Given the description of an element on the screen output the (x, y) to click on. 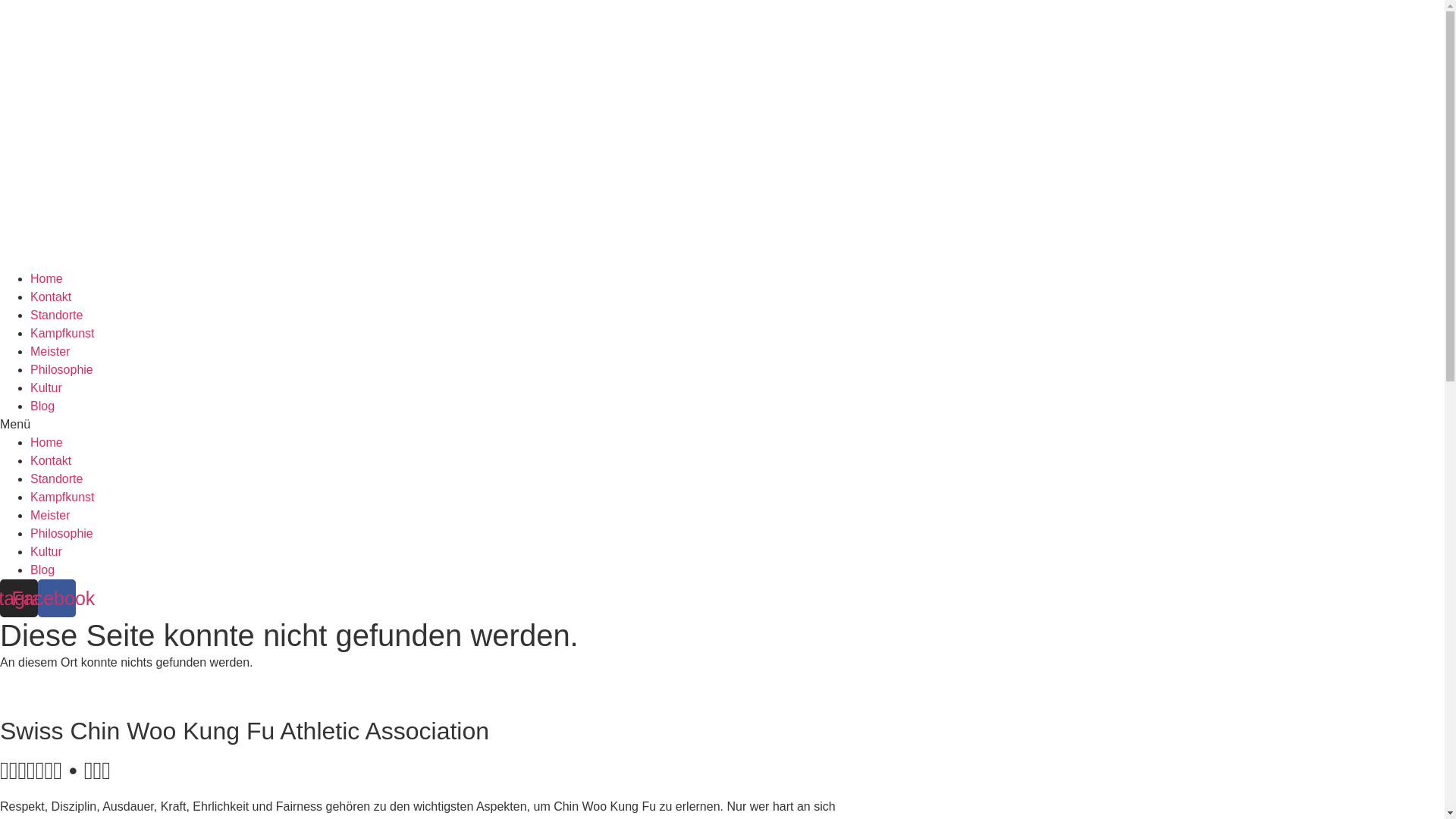
Standorte Element type: text (56, 478)
Blog Element type: text (42, 569)
Facebook Element type: text (56, 598)
Meister Element type: text (49, 514)
Kultur Element type: text (46, 387)
Home Element type: text (46, 278)
Home Element type: text (46, 442)
Philosophie Element type: text (61, 533)
Kampfkunst Element type: text (62, 332)
Kampfkunst Element type: text (62, 496)
Meister Element type: text (49, 351)
Standorte Element type: text (56, 314)
Kontakt Element type: text (50, 296)
Blog Element type: text (42, 405)
Kontakt Element type: text (50, 460)
Philosophie Element type: text (61, 369)
Instagram Element type: text (18, 598)
Kultur Element type: text (46, 551)
